Given the description of an element on the screen output the (x, y) to click on. 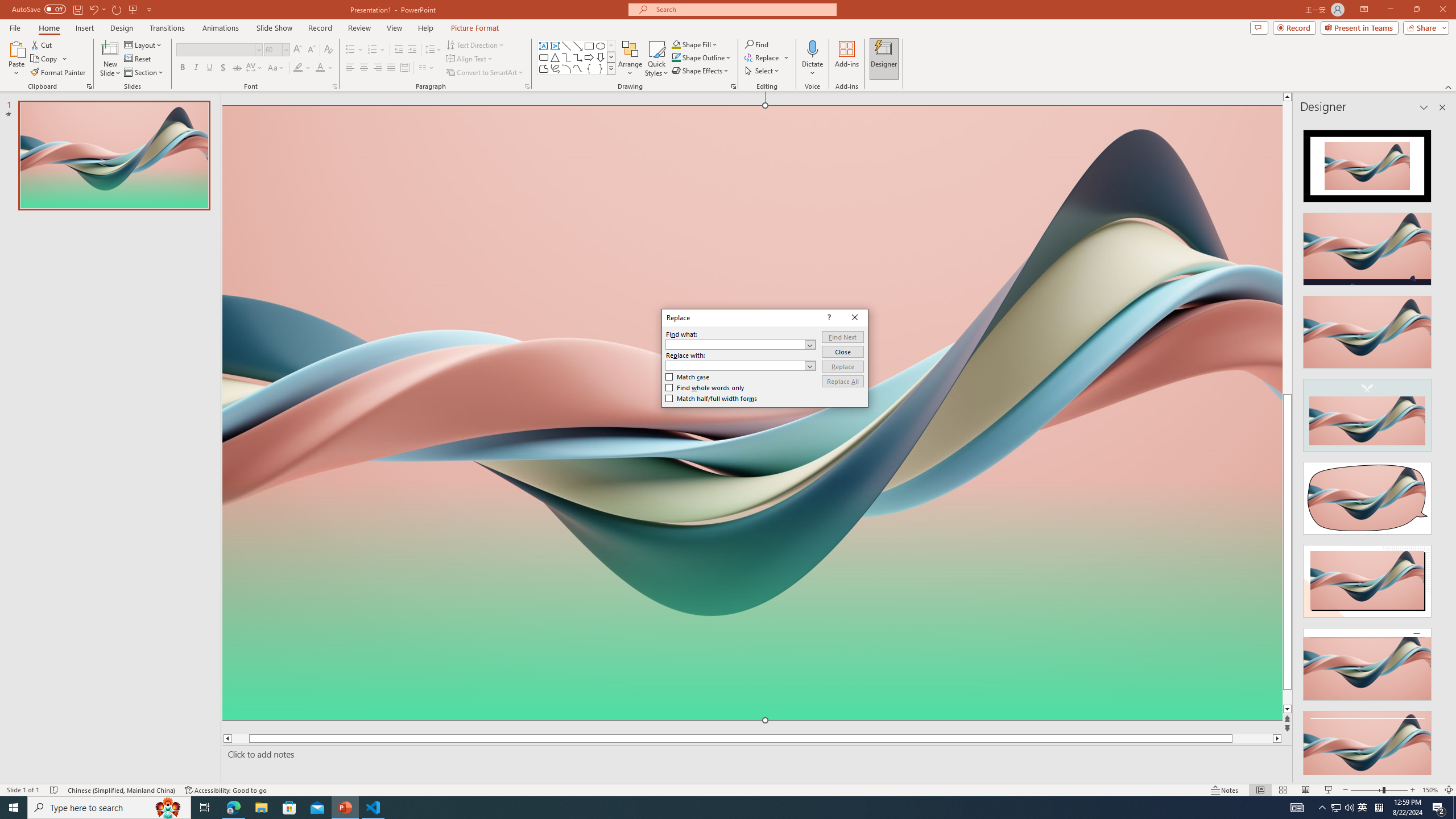
Find Next (842, 336)
